Given the description of an element on the screen output the (x, y) to click on. 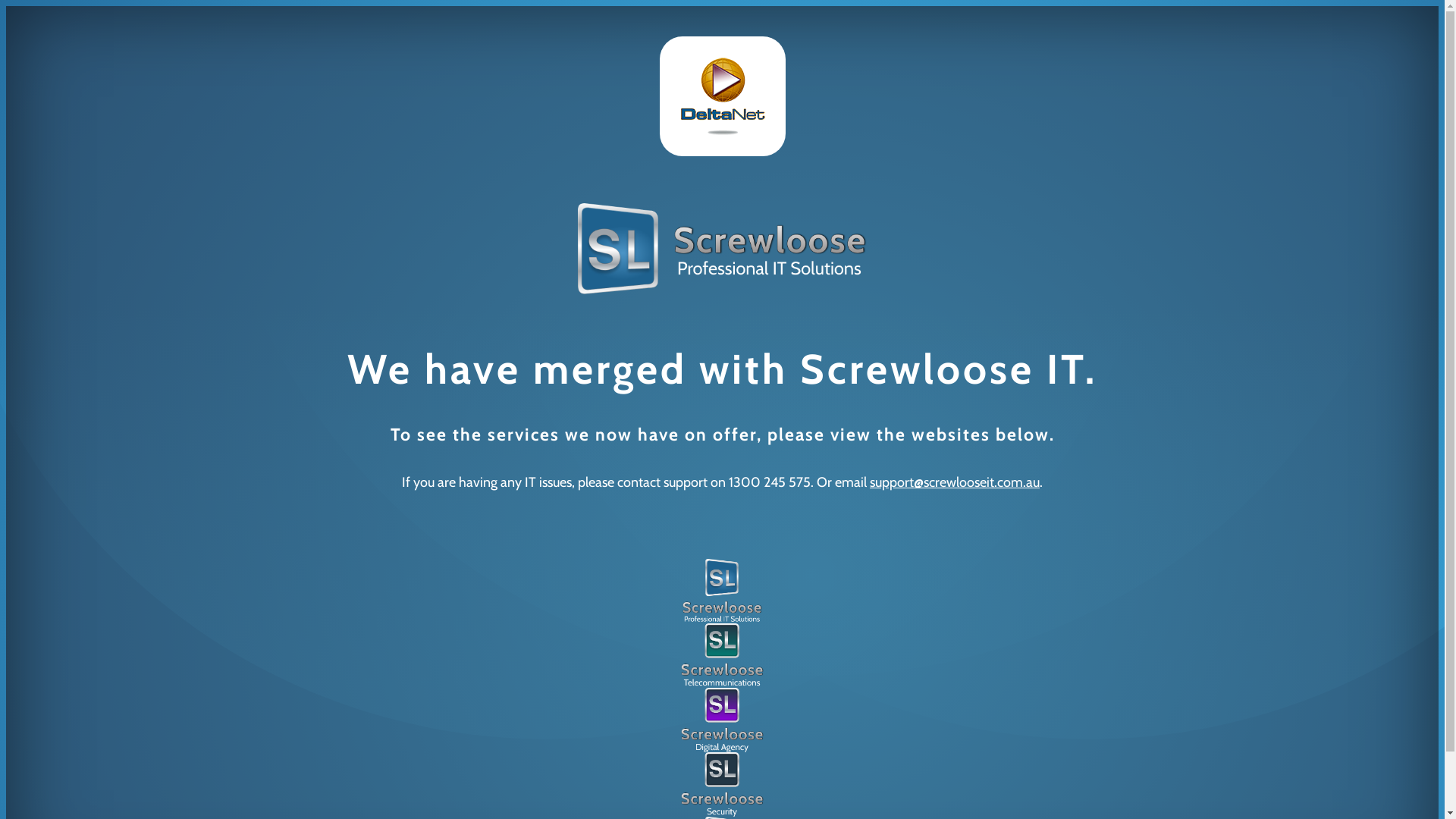
support@screwlooseit.com.au Element type: text (954, 481)
